Given the description of an element on the screen output the (x, y) to click on. 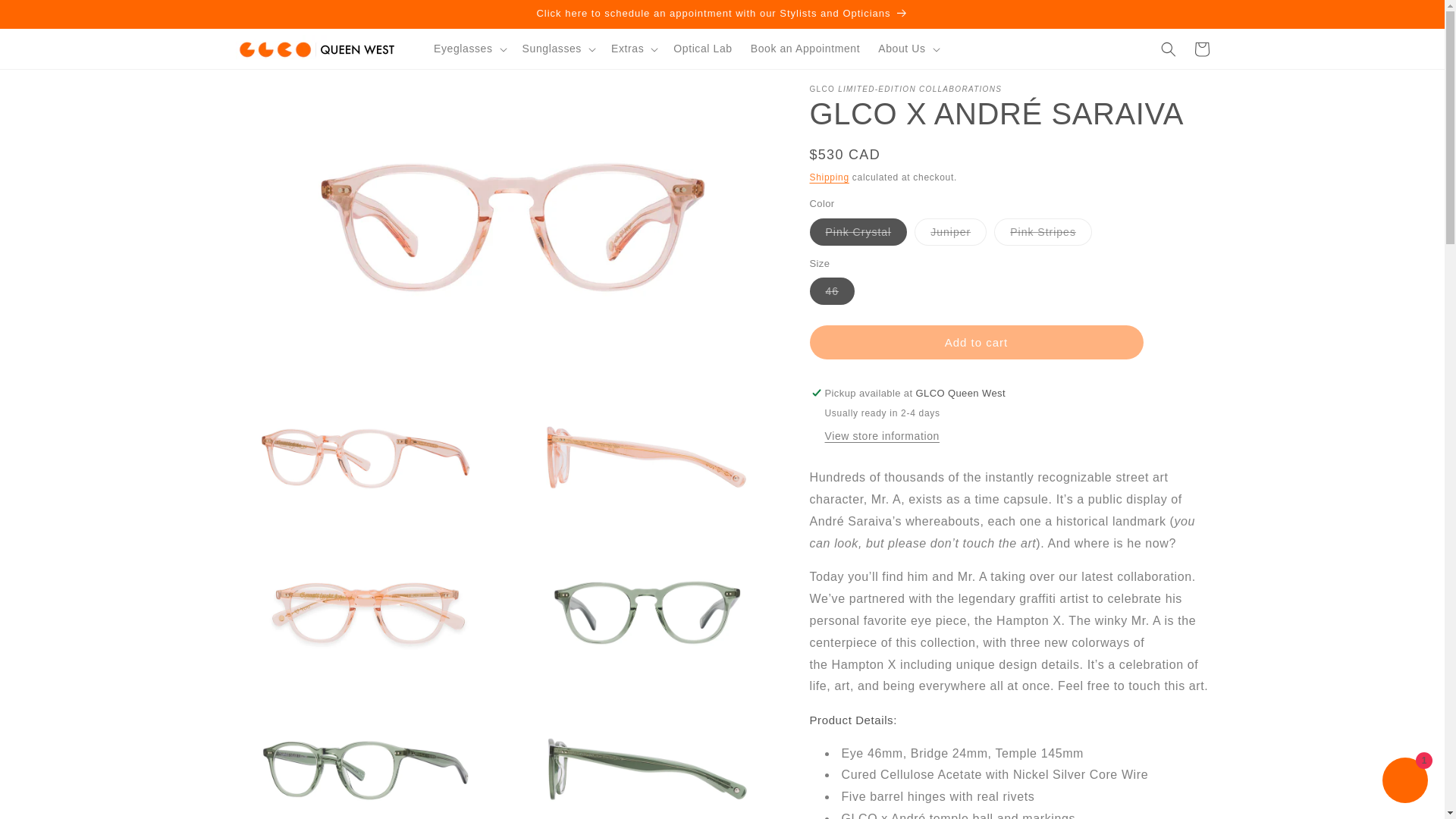
Shopify online store chat (1404, 781)
Skip to content (45, 16)
